Given the description of an element on the screen output the (x, y) to click on. 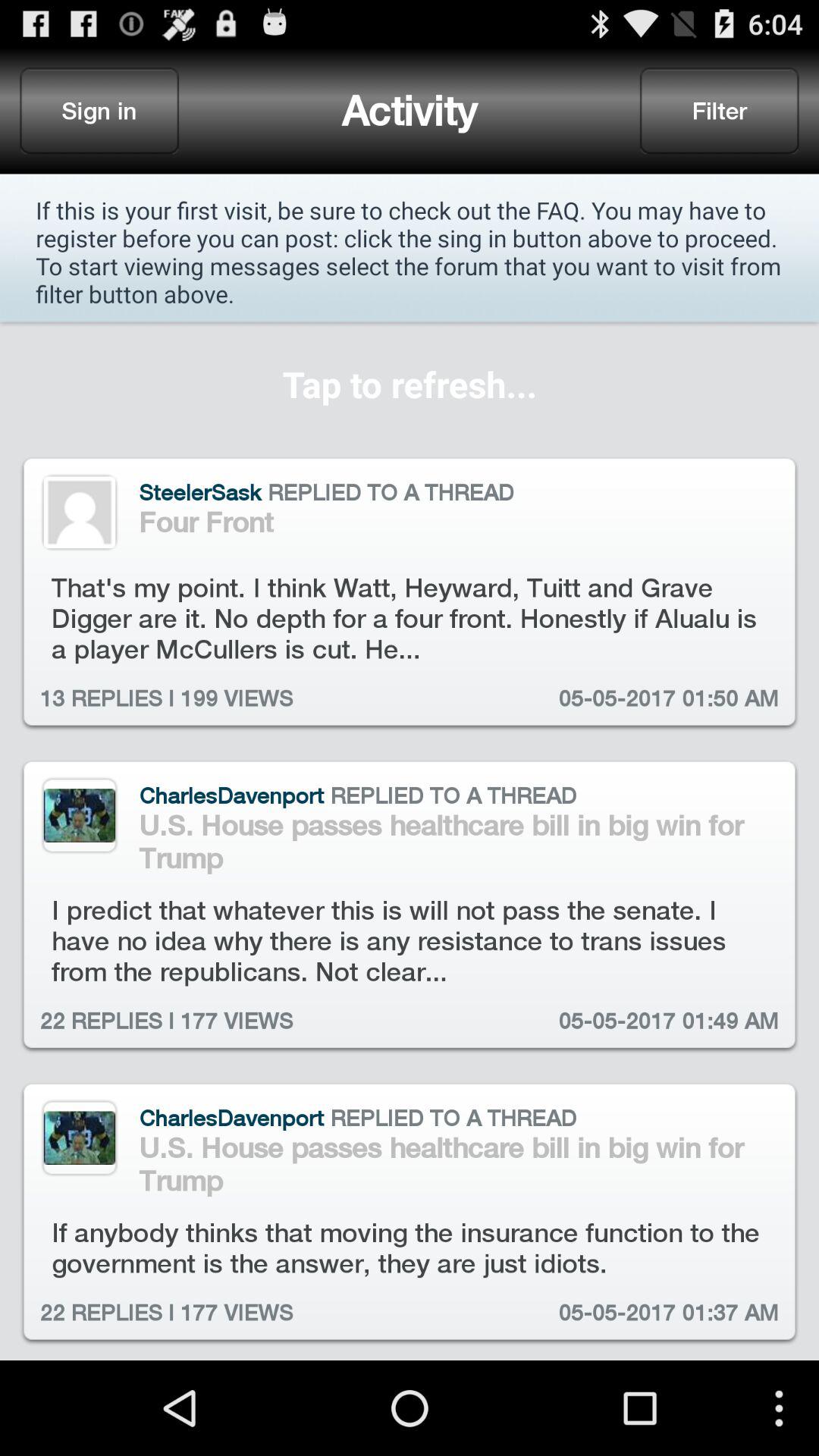
profile icon (79, 512)
